Given the description of an element on the screen output the (x, y) to click on. 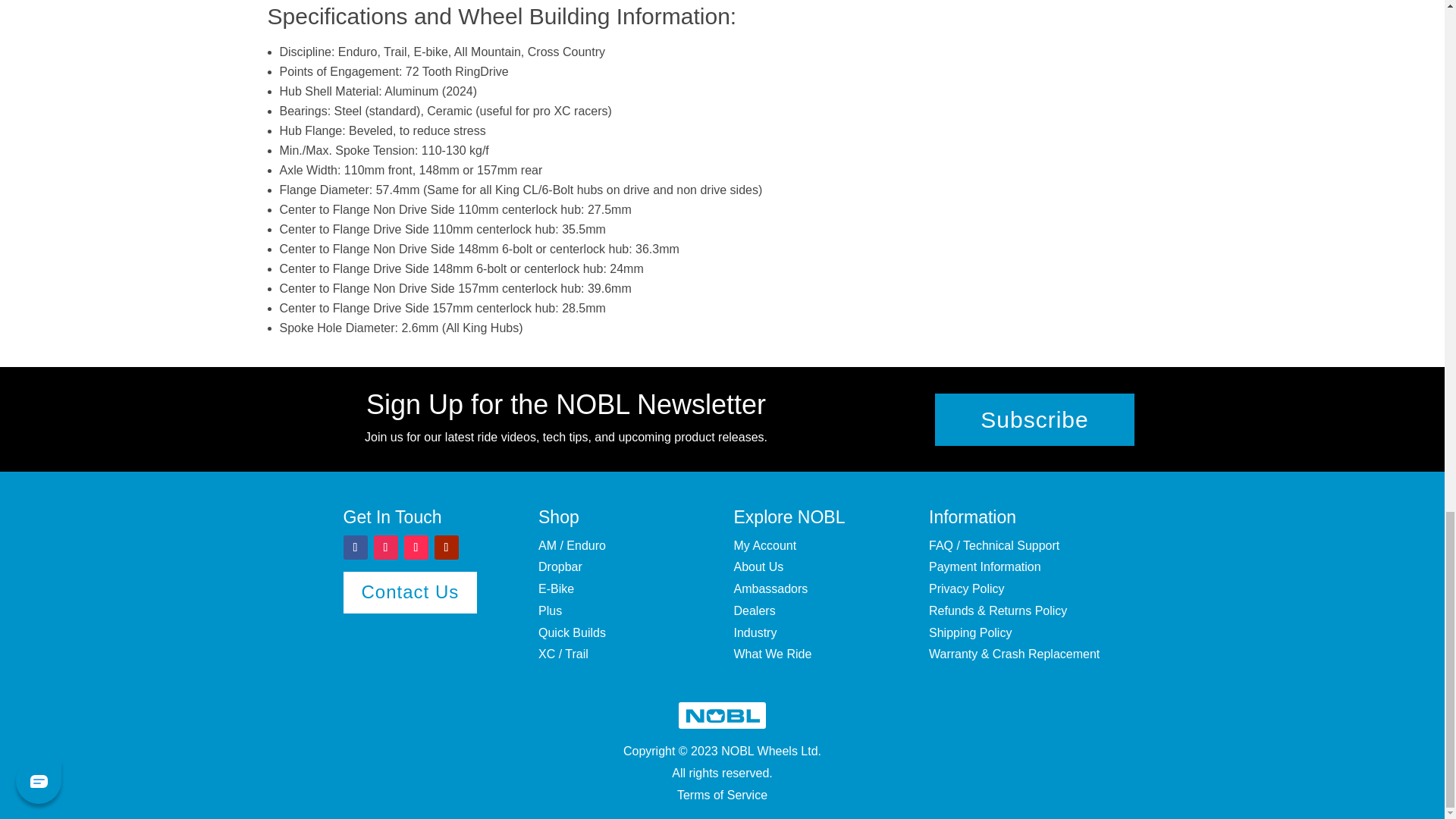
NOBL-logo-white (721, 714)
Follow on Instagram (384, 547)
Follow on TikTok (415, 547)
Follow on Facebook (354, 547)
Follow on Youtube (445, 547)
Terms of Service (722, 794)
